Given the description of an element on the screen output the (x, y) to click on. 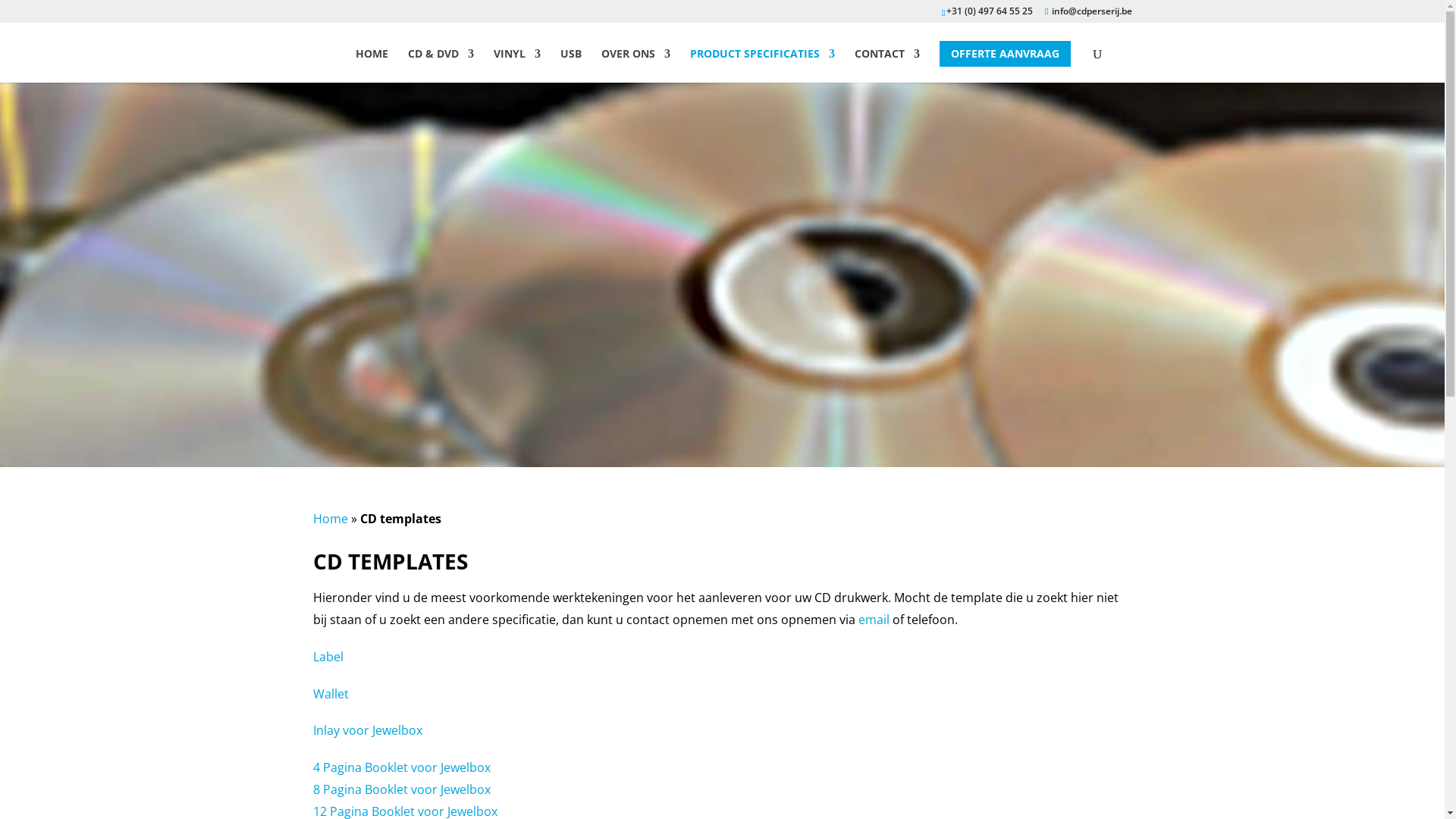
+31 (0) 497 64 55 25 Element type: text (989, 10)
OVER ONS Element type: text (635, 59)
PRODUCT SPECIFICATIES Element type: text (762, 59)
4 Pagina Booklet voor Jewelbox Element type: text (400, 767)
email Element type: text (873, 619)
HOME Element type: text (371, 59)
Inlay voor Jewelbox Element type: text (366, 729)
CD & DVD Element type: text (440, 59)
Wallet Element type: text (330, 693)
USB Element type: text (570, 59)
CONTACT Element type: text (886, 59)
Label Element type: text (327, 656)
info@cdperserij.be Element type: text (1087, 10)
OFFERTE AANVRAAG Element type: text (1004, 53)
Home Element type: text (329, 518)
8 Pagina Booklet voor Jewelbox Element type: text (400, 789)
VINYL Element type: text (516, 59)
